Given the description of an element on the screen output the (x, y) to click on. 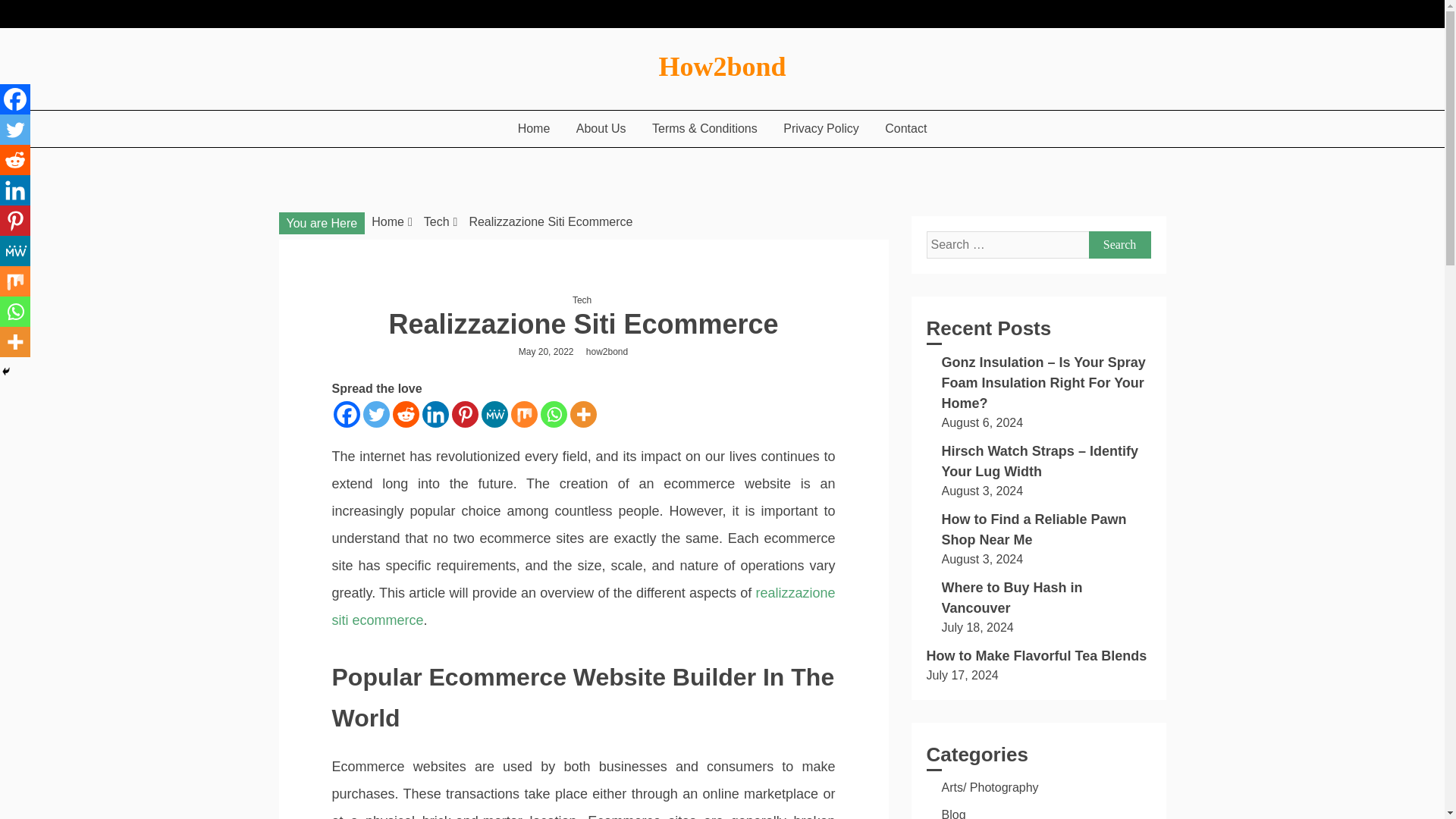
Tech (436, 221)
Whatsapp (553, 414)
realizzazione siti ecommerce (583, 606)
More (583, 414)
how2bond (610, 351)
Realizzazione Siti Ecommerce (549, 221)
Reddit (406, 414)
How2bond (722, 66)
Contact (905, 128)
Home (534, 128)
